Given the description of an element on the screen output the (x, y) to click on. 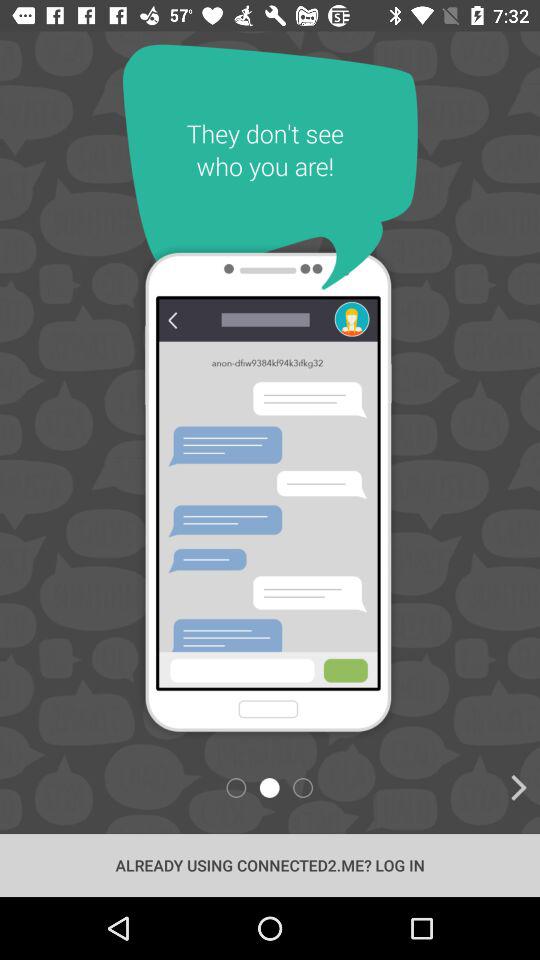
turn on icon at the bottom right corner (422, 787)
